Given the description of an element on the screen output the (x, y) to click on. 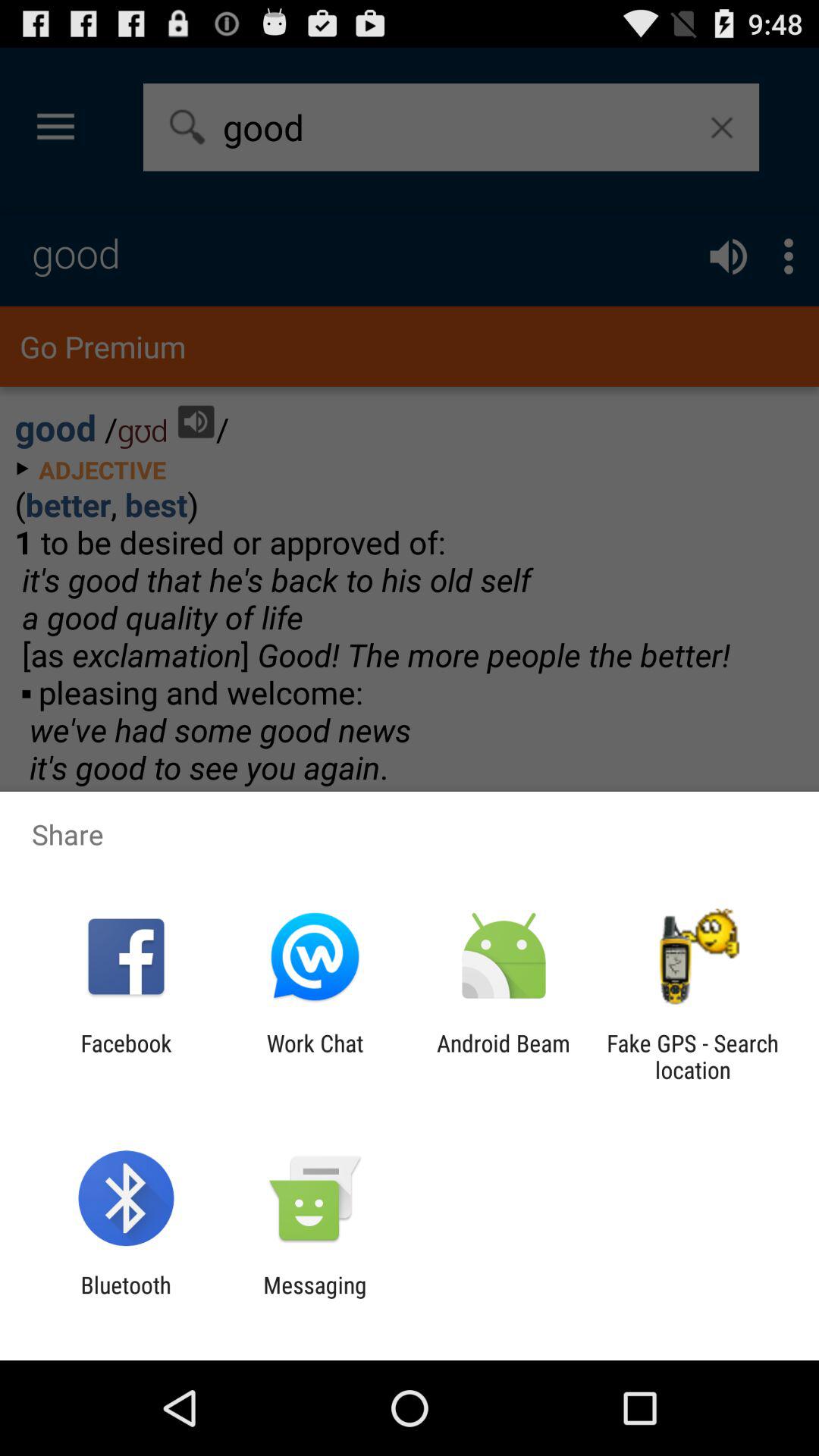
flip until work chat item (314, 1056)
